Given the description of an element on the screen output the (x, y) to click on. 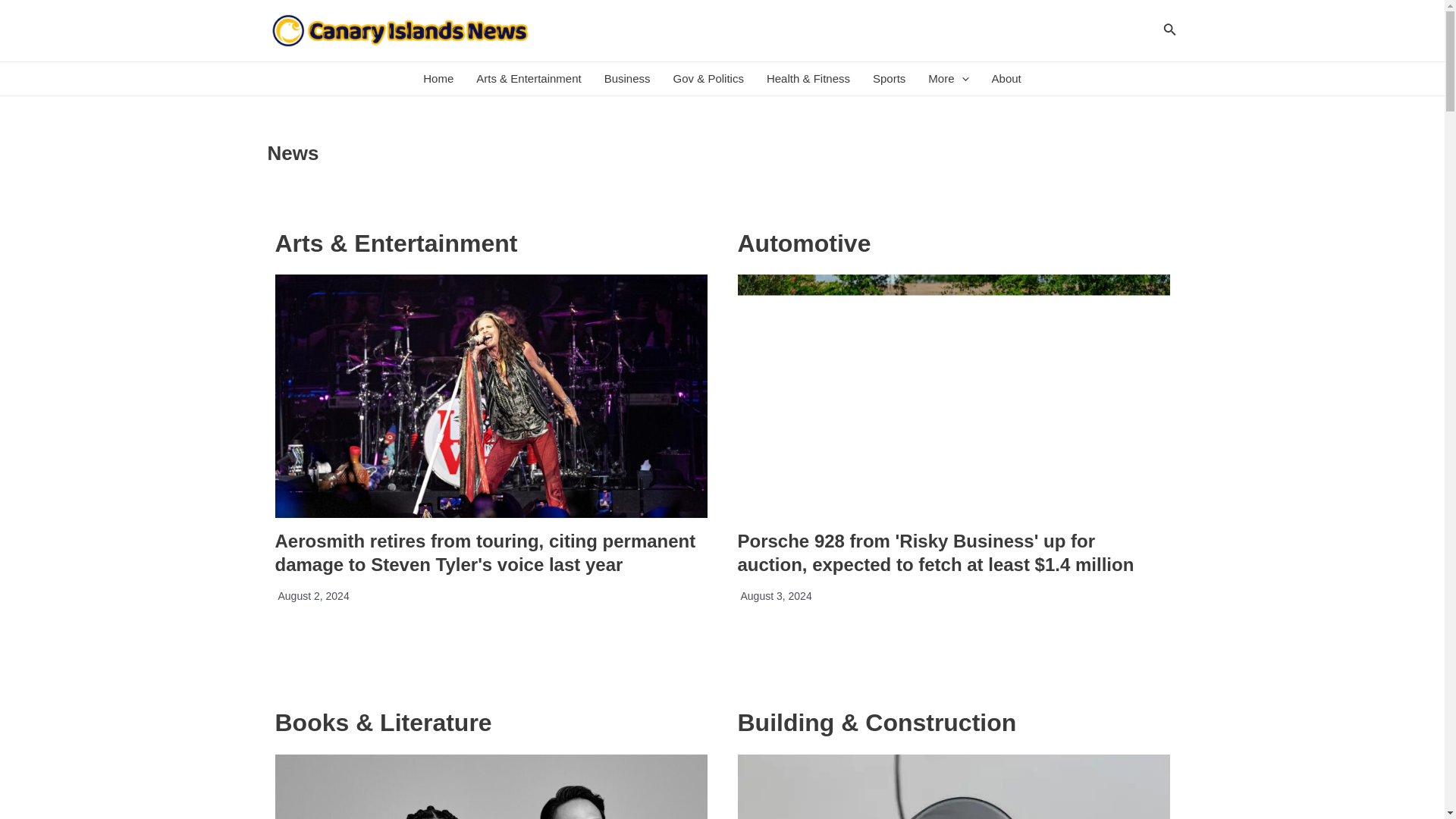
Business (627, 78)
Sports (889, 78)
Home (438, 78)
About (1005, 78)
More (948, 78)
